Given the description of an element on the screen output the (x, y) to click on. 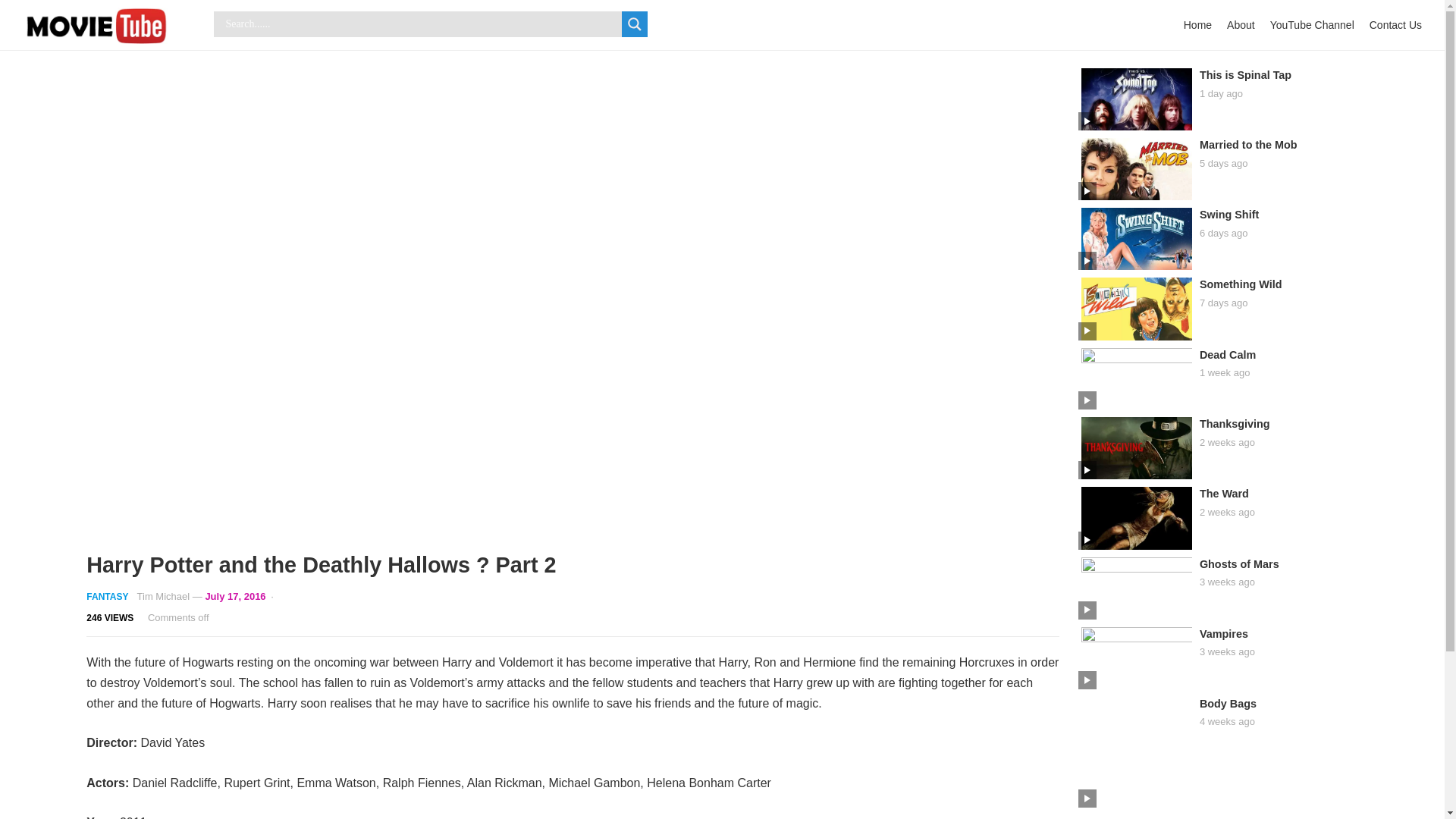
Posts by Tim Michael (163, 595)
Tim Michael (163, 595)
FANTASY (106, 596)
Contact Us (1396, 24)
Married to the Mob (1248, 144)
Thanksgiving (1234, 423)
This is Spinal Tap (1245, 74)
Dead Calm (1227, 354)
YouTube Channel (1311, 24)
Something Wild (1240, 284)
Swing Shift (1229, 214)
